Given the description of an element on the screen output the (x, y) to click on. 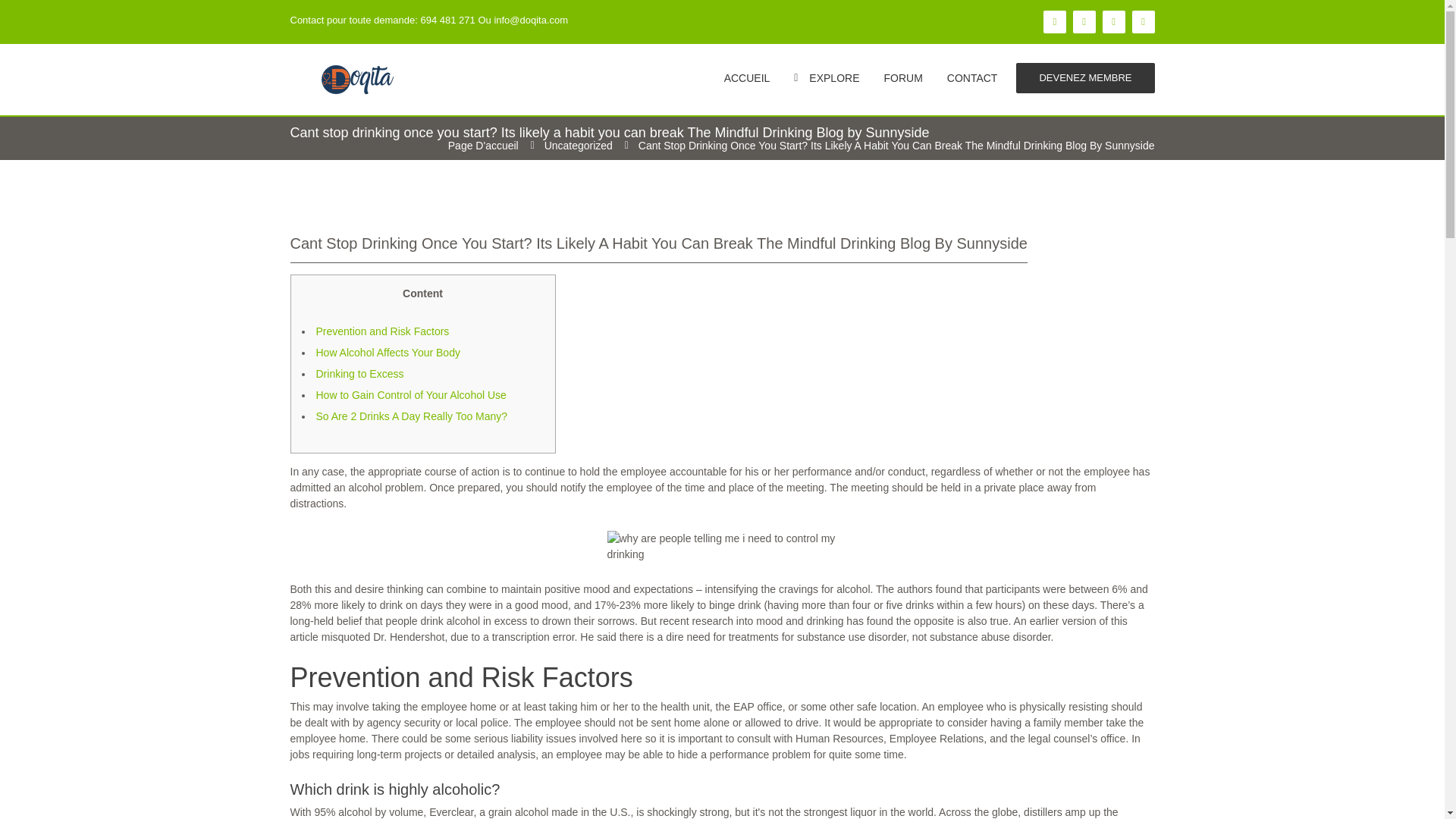
CONTACT (972, 77)
FORUM (902, 77)
Prevention and Risk Factors (381, 331)
EXPLORE (826, 77)
Page D'Accueil (483, 145)
Uncategorized (578, 145)
Drinking to Excess (359, 373)
So Are 2 Drinks A Day Really Too Many? (410, 416)
ACCUEIL (746, 77)
How Alcohol Affects Your Body (387, 352)
DEVENEZ MEMBRE (1085, 78)
How to Gain Control of Your Alcohol Use (410, 395)
